Given the description of an element on the screen output the (x, y) to click on. 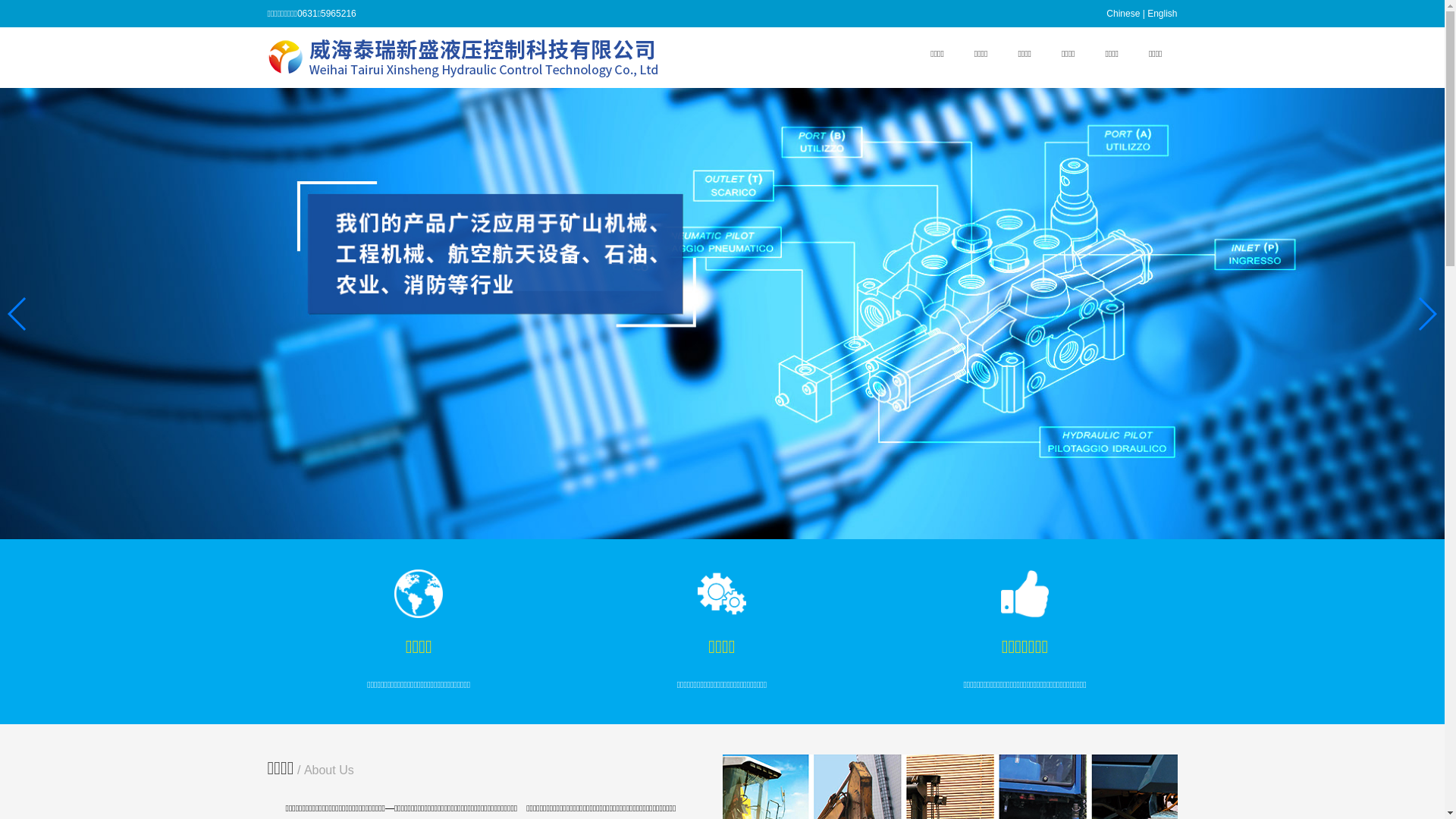
English Element type: text (1161, 13)
Chinese Element type: text (1122, 13)
